Given the description of an element on the screen output the (x, y) to click on. 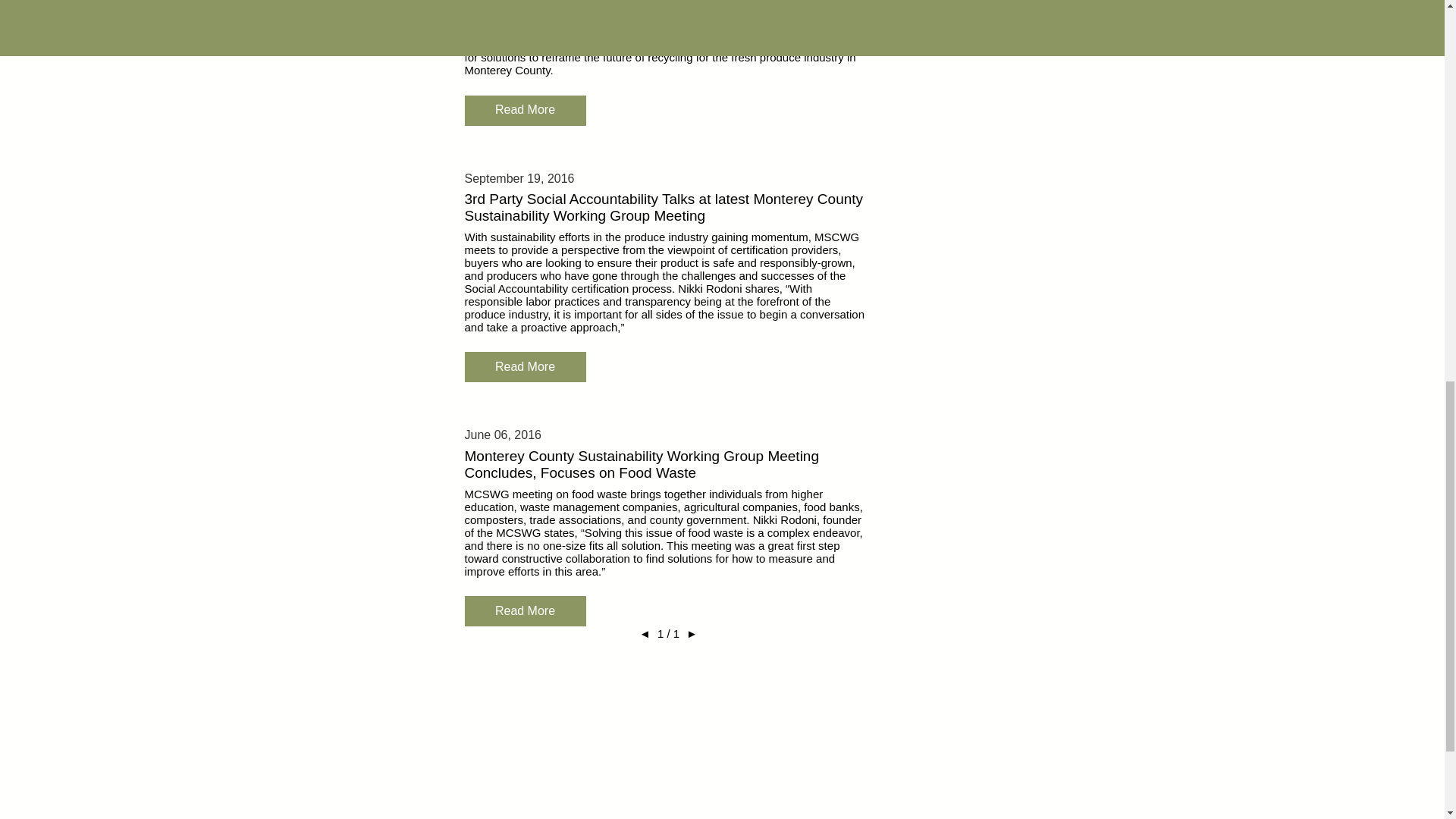
Read More (524, 110)
Read More (524, 367)
Read More (524, 611)
